Given the description of an element on the screen output the (x, y) to click on. 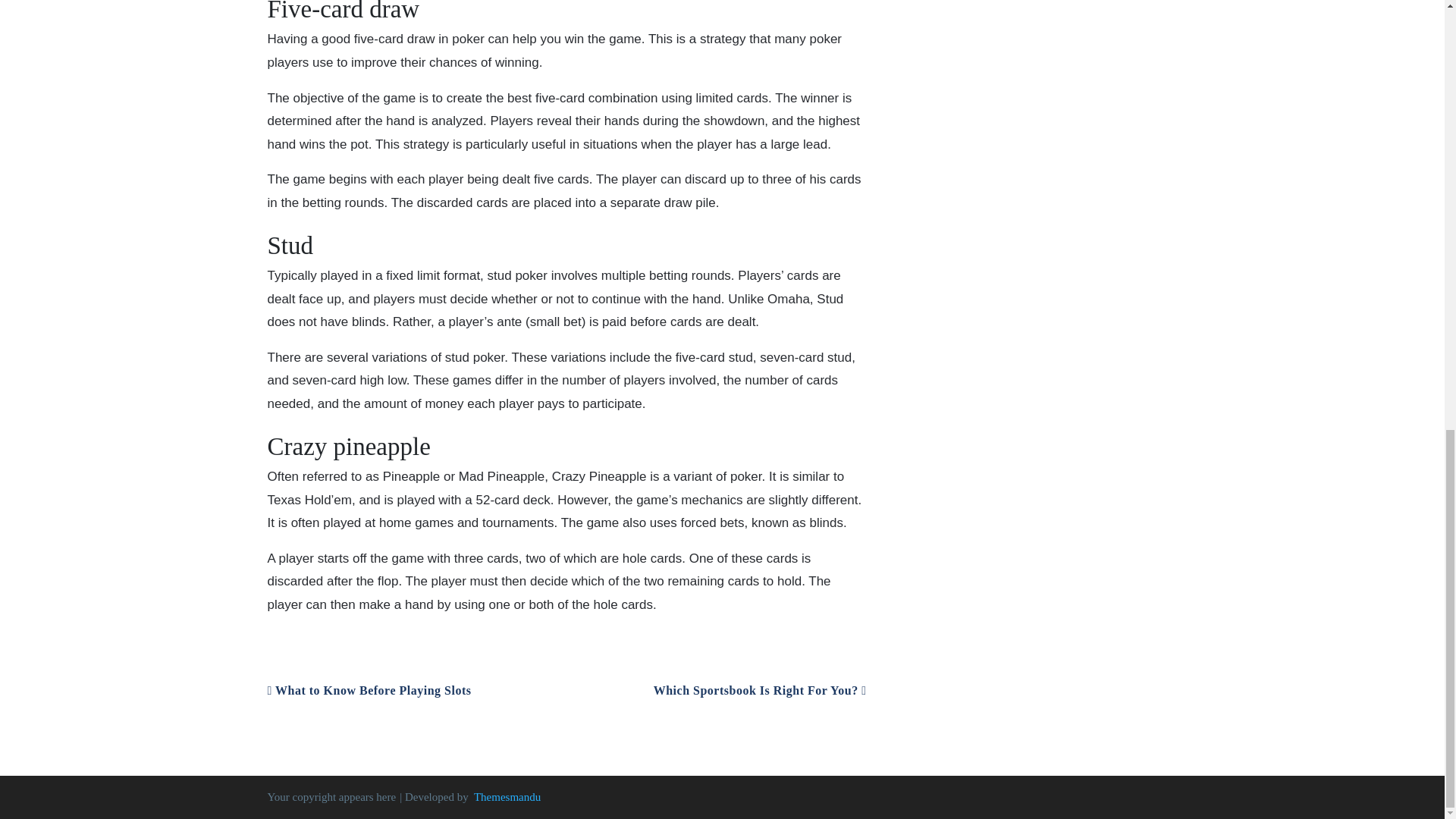
Themesmandu (507, 797)
What to Know Before Playing Slots (368, 689)
Which Sportsbook Is Right For You? (759, 689)
